Given the description of an element on the screen output the (x, y) to click on. 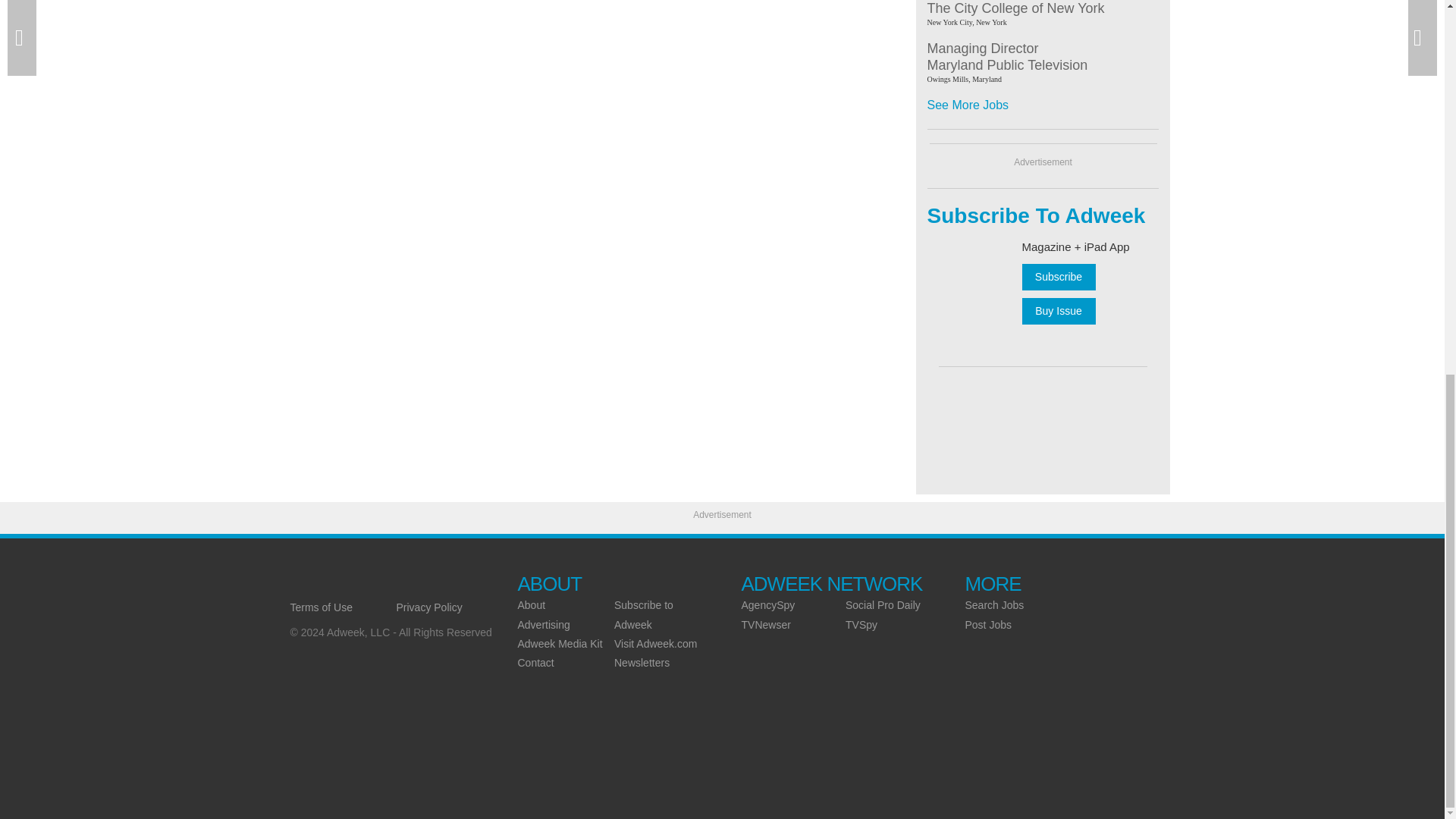
Covering local television news (395, 583)
